Given the description of an element on the screen output the (x, y) to click on. 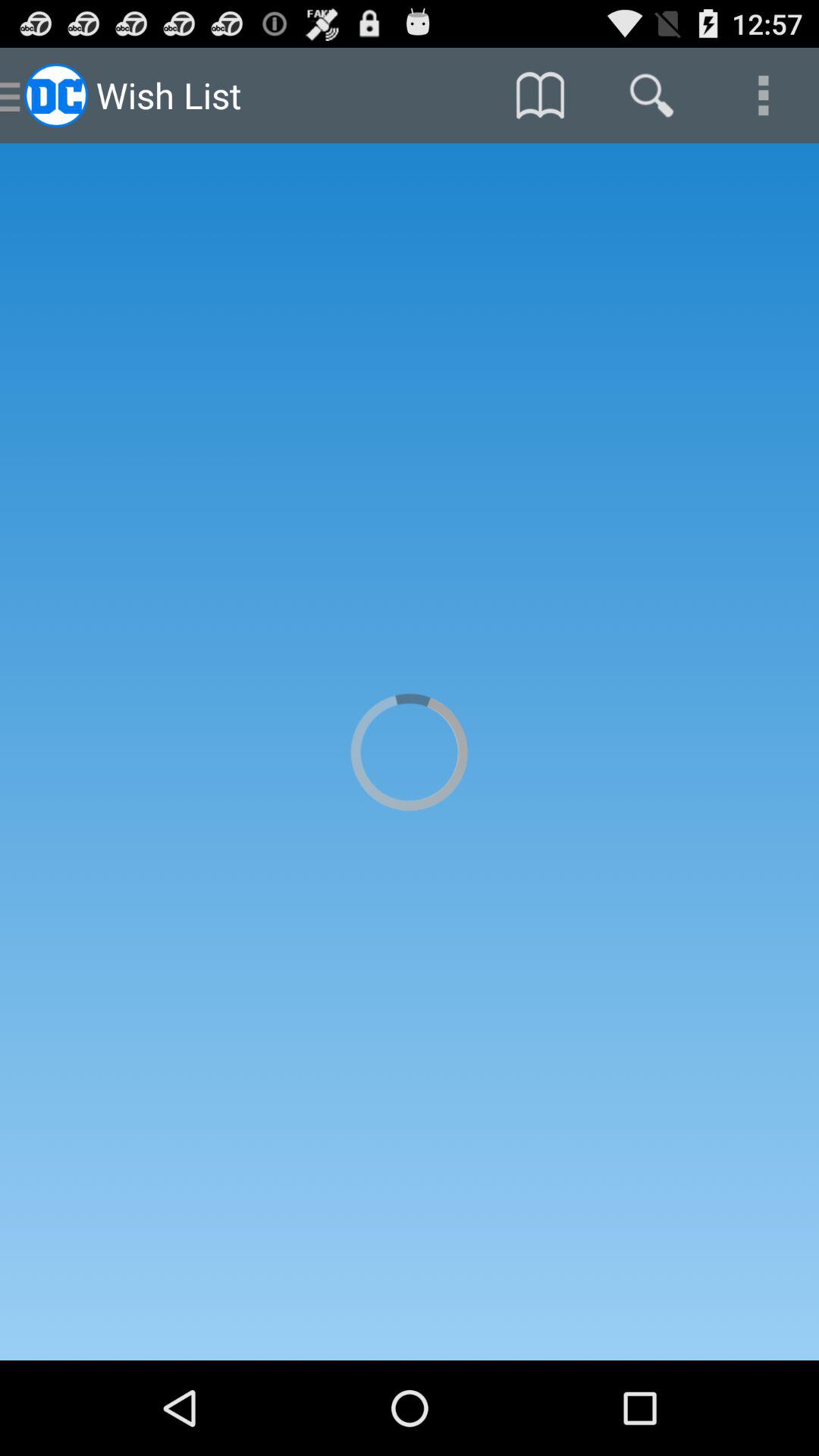
turn off the item at the top (540, 95)
